Given the description of an element on the screen output the (x, y) to click on. 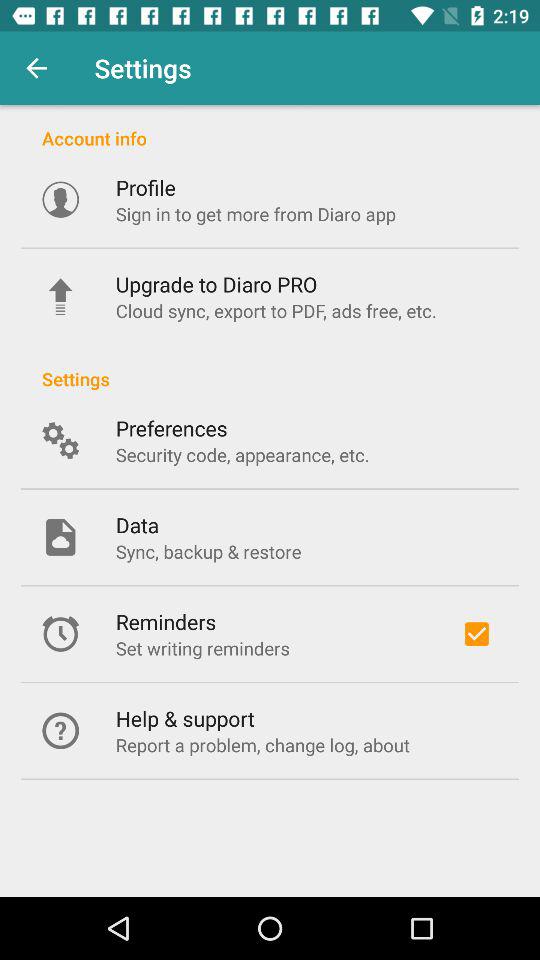
turn on the icon above account info icon (36, 68)
